Given the description of an element on the screen output the (x, y) to click on. 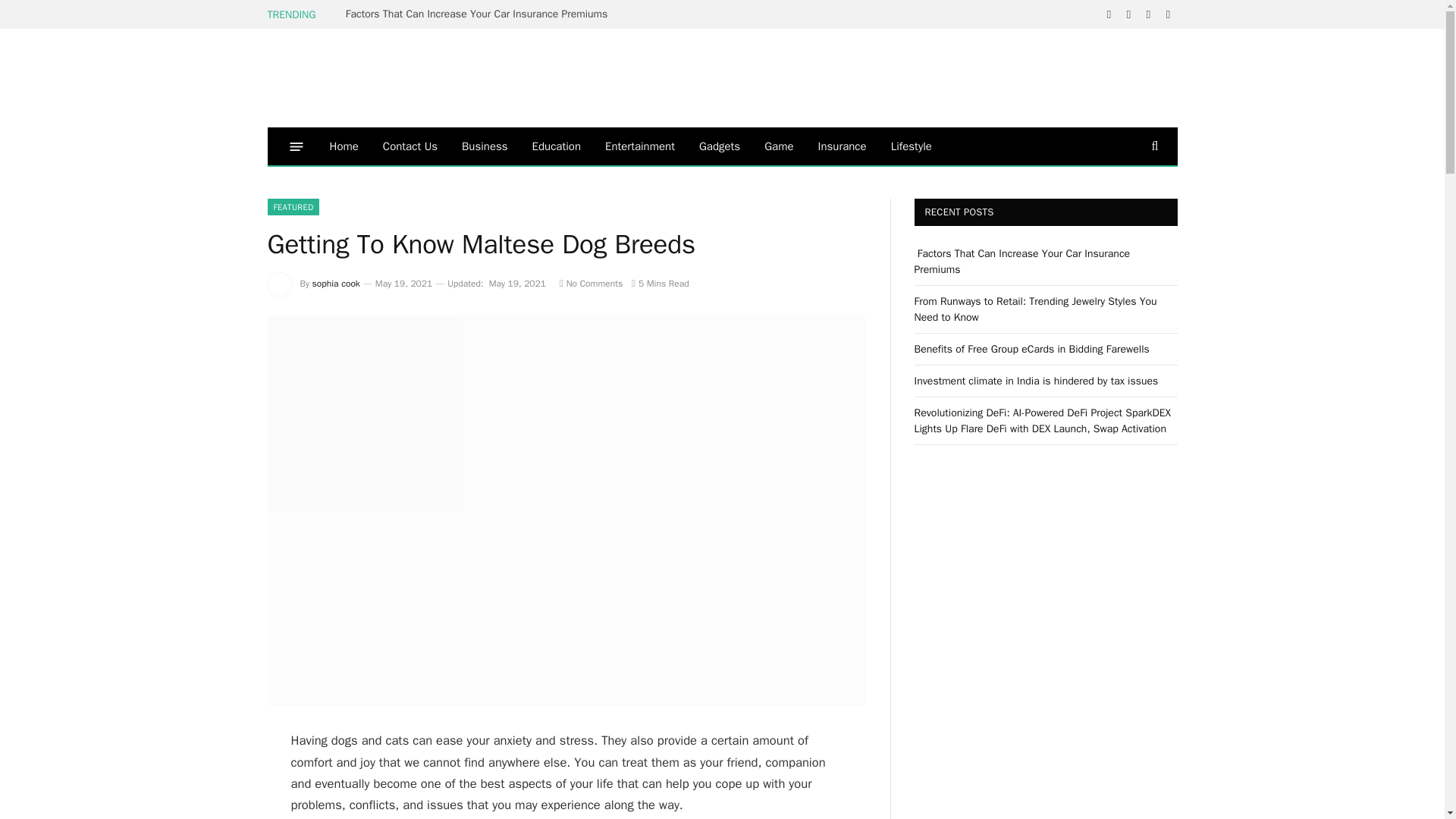
Latest Techno (373, 77)
Posts by sophia cook (336, 283)
